Given the description of an element on the screen output the (x, y) to click on. 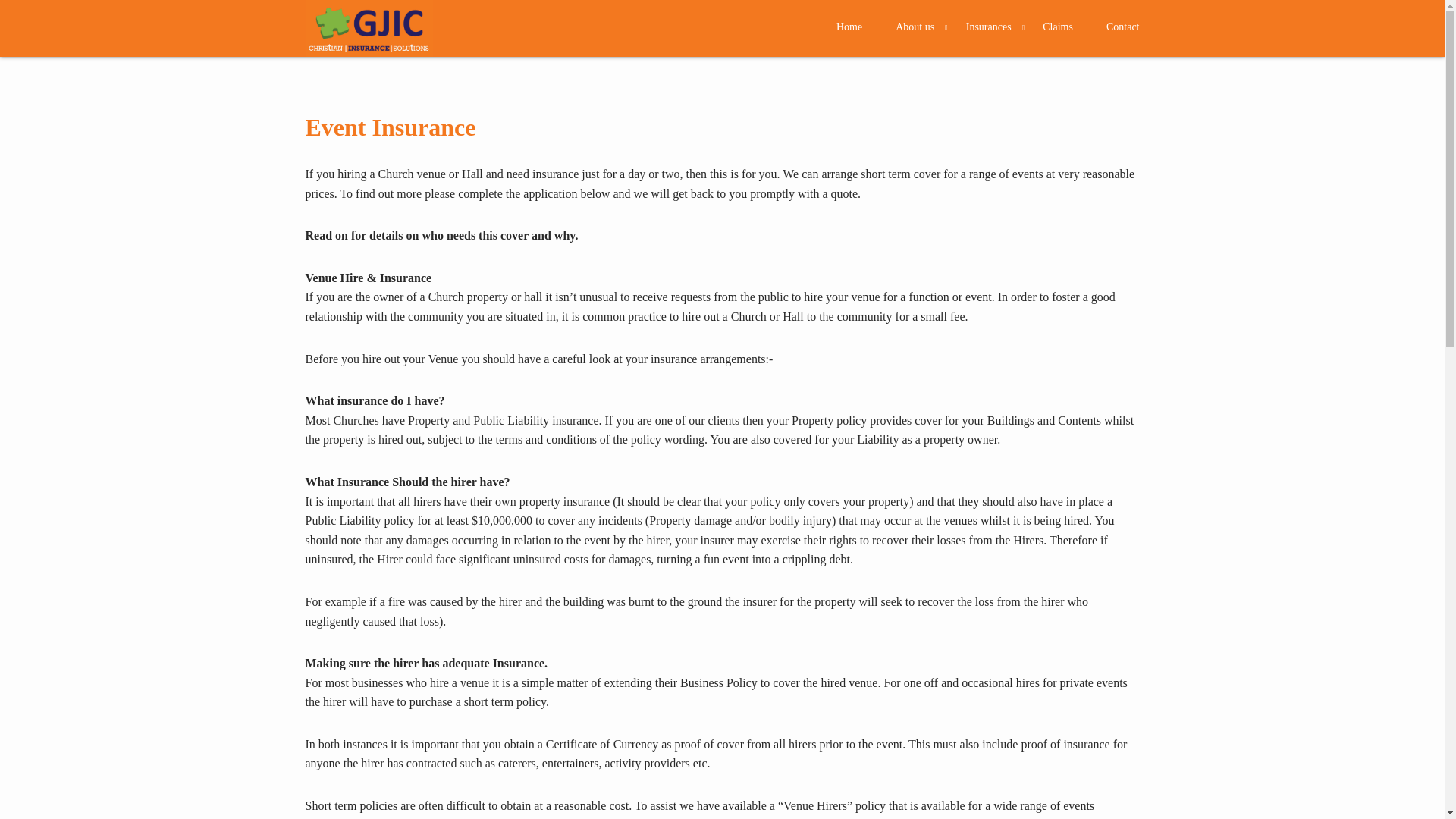
Event Insurance (390, 126)
About us (914, 26)
Claims (1057, 26)
Home (849, 26)
Contact (1115, 26)
Insurances (988, 26)
